Given the description of an element on the screen output the (x, y) to click on. 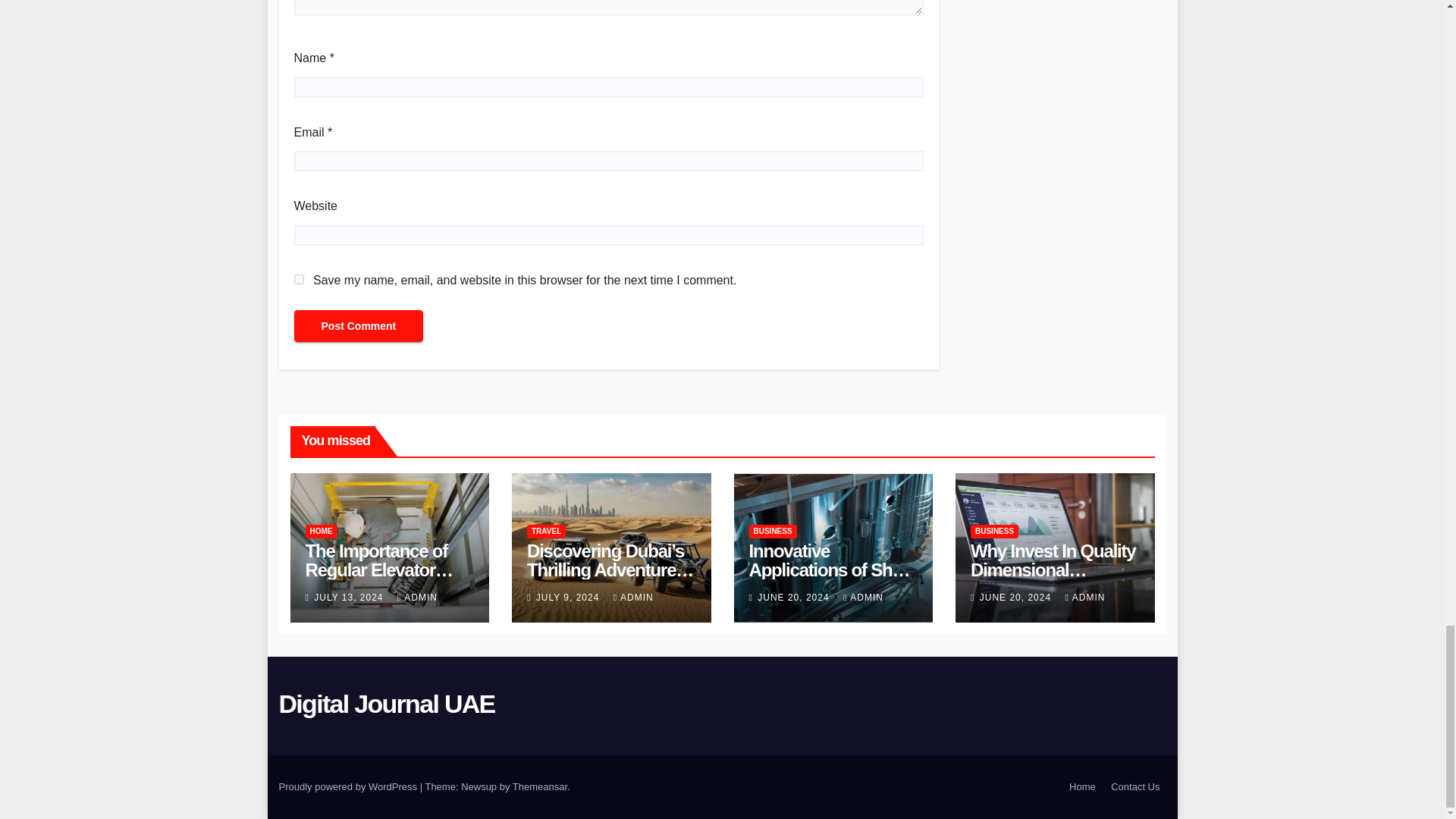
yes (299, 279)
Post Comment (358, 326)
Contact Us (1135, 786)
Home (1082, 786)
